Given the description of an element on the screen output the (x, y) to click on. 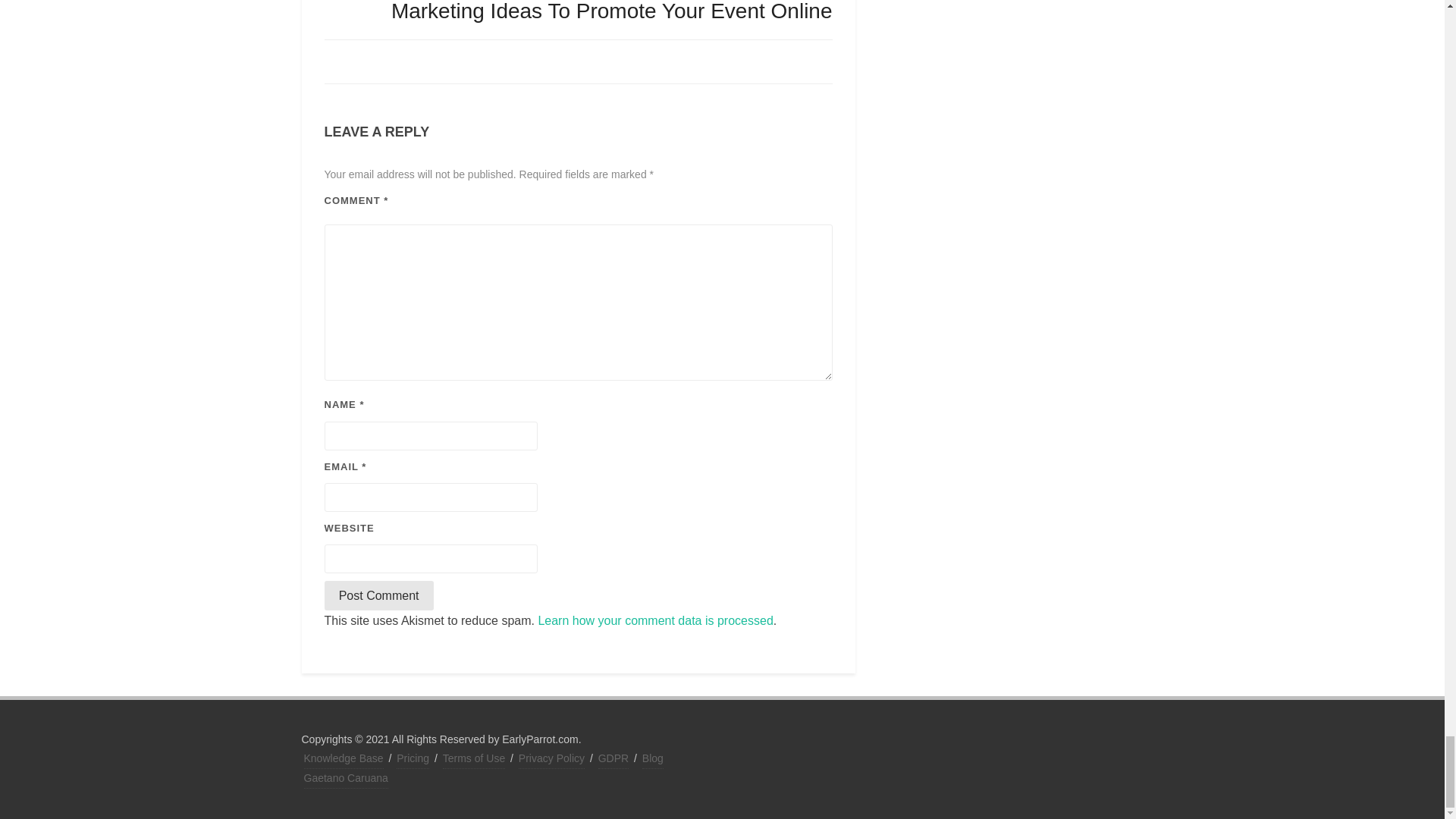
Knowledge Base (342, 759)
Post Comment (378, 594)
Marketing Ideas To Promote Your Event Online (611, 11)
Learn how your comment data is processed (655, 620)
Pricing (412, 759)
Terms of Use (473, 759)
Post Comment (378, 594)
